Given the description of an element on the screen output the (x, y) to click on. 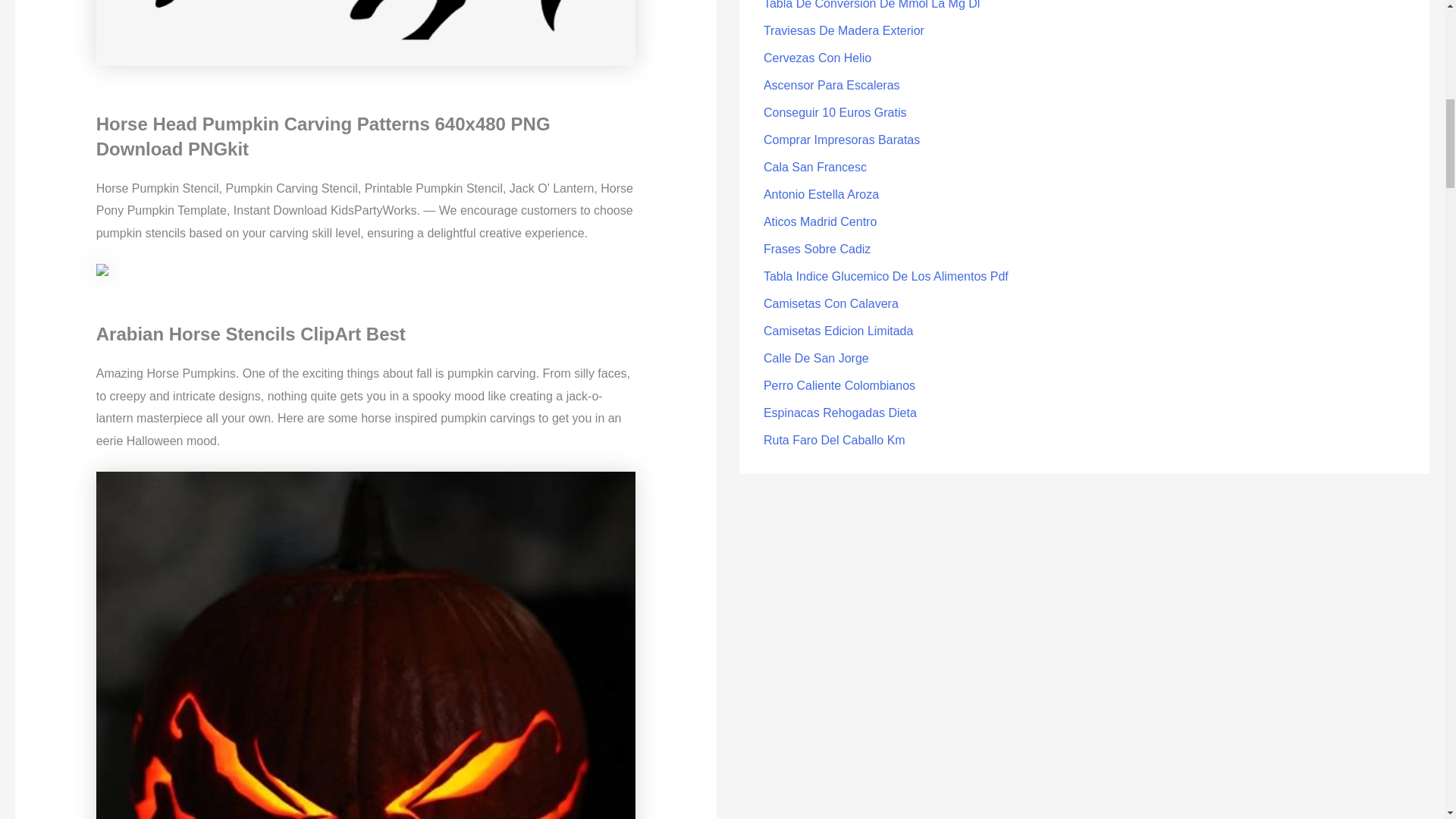
Conseguir 10 Euros Gratis (834, 112)
Cervezas Con Helio (816, 57)
Ascensor Para Escaleras (830, 84)
Traviesas De Madera Exterior (843, 30)
